Given the description of an element on the screen output the (x, y) to click on. 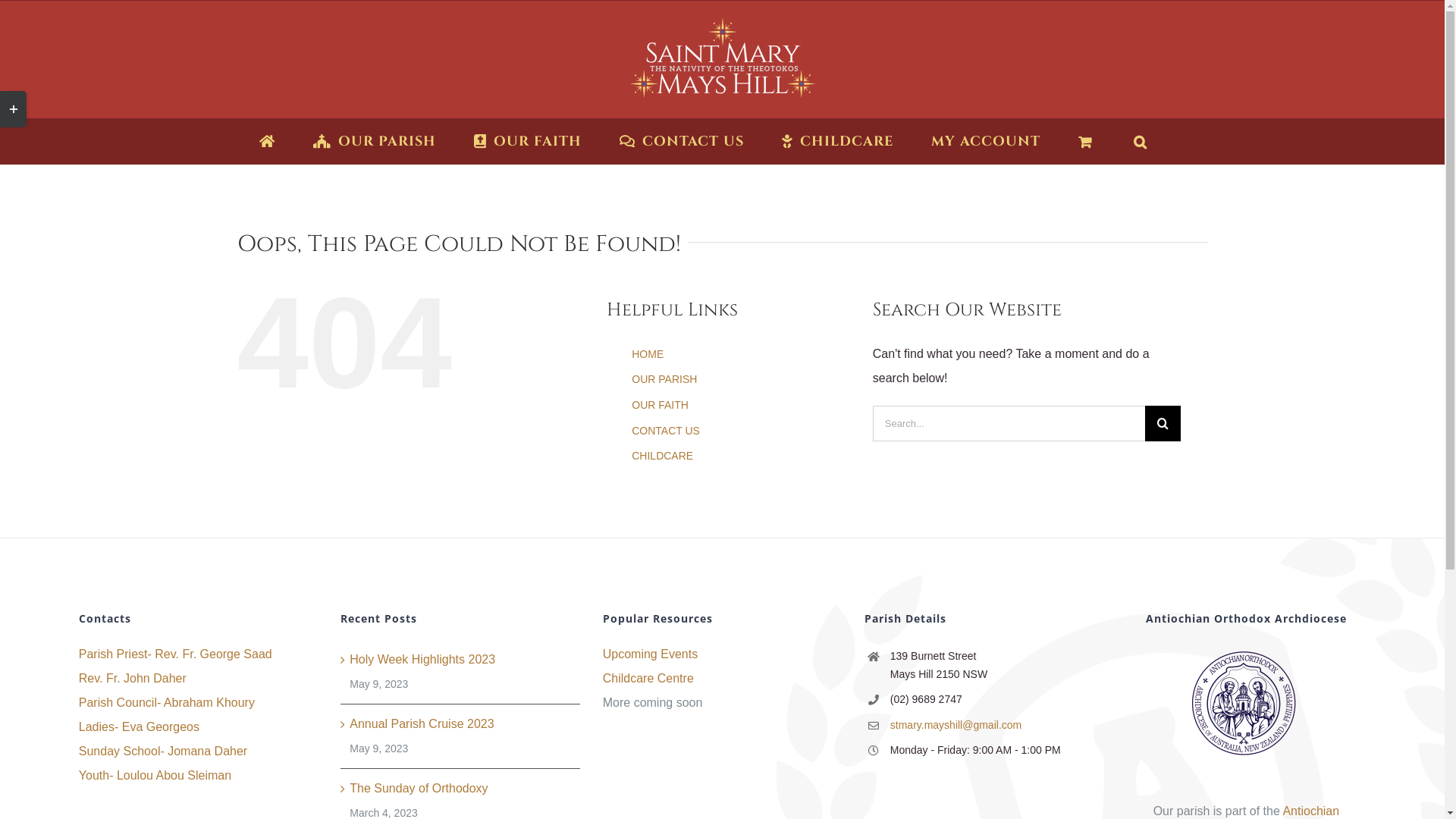
OUR PARISH Element type: text (663, 379)
OUR FAITH Element type: text (659, 404)
Log In Element type: text (1023, 302)
Search Element type: hover (1140, 141)
Childcare Centre Element type: text (721, 678)
Holy Week Highlights 2023 Element type: text (460, 659)
Upcoming Events Element type: text (721, 654)
Parish Council- Abraham Khoury Element type: text (197, 702)
Parish Priest- Rev. Fr. George Saad Element type: text (197, 654)
CHILDCARE Element type: text (662, 455)
OUR PARISH Element type: text (374, 141)
The Sunday of Orthodoxy Element type: text (460, 788)
CHILDCARE Element type: text (837, 141)
Sunday School- Jomana Daher Element type: text (197, 751)
Rev. Fr. John Daher Element type: text (197, 678)
stmary.mayshill@gmail.com Element type: text (997, 725)
CONTACT US Element type: text (665, 430)
Toggle Sliding Bar Area Element type: text (13, 109)
Annual Parish Cruise 2023 Element type: text (460, 724)
CONTACT US Element type: text (681, 141)
Youth- Loulou Abou Sleiman Element type: text (197, 775)
OUR FAITH Element type: text (527, 141)
HOME Element type: text (647, 354)
MY ACCOUNT Element type: text (985, 141)
Ladies- Eva Georgeos Element type: text (197, 727)
